Given the description of an element on the screen output the (x, y) to click on. 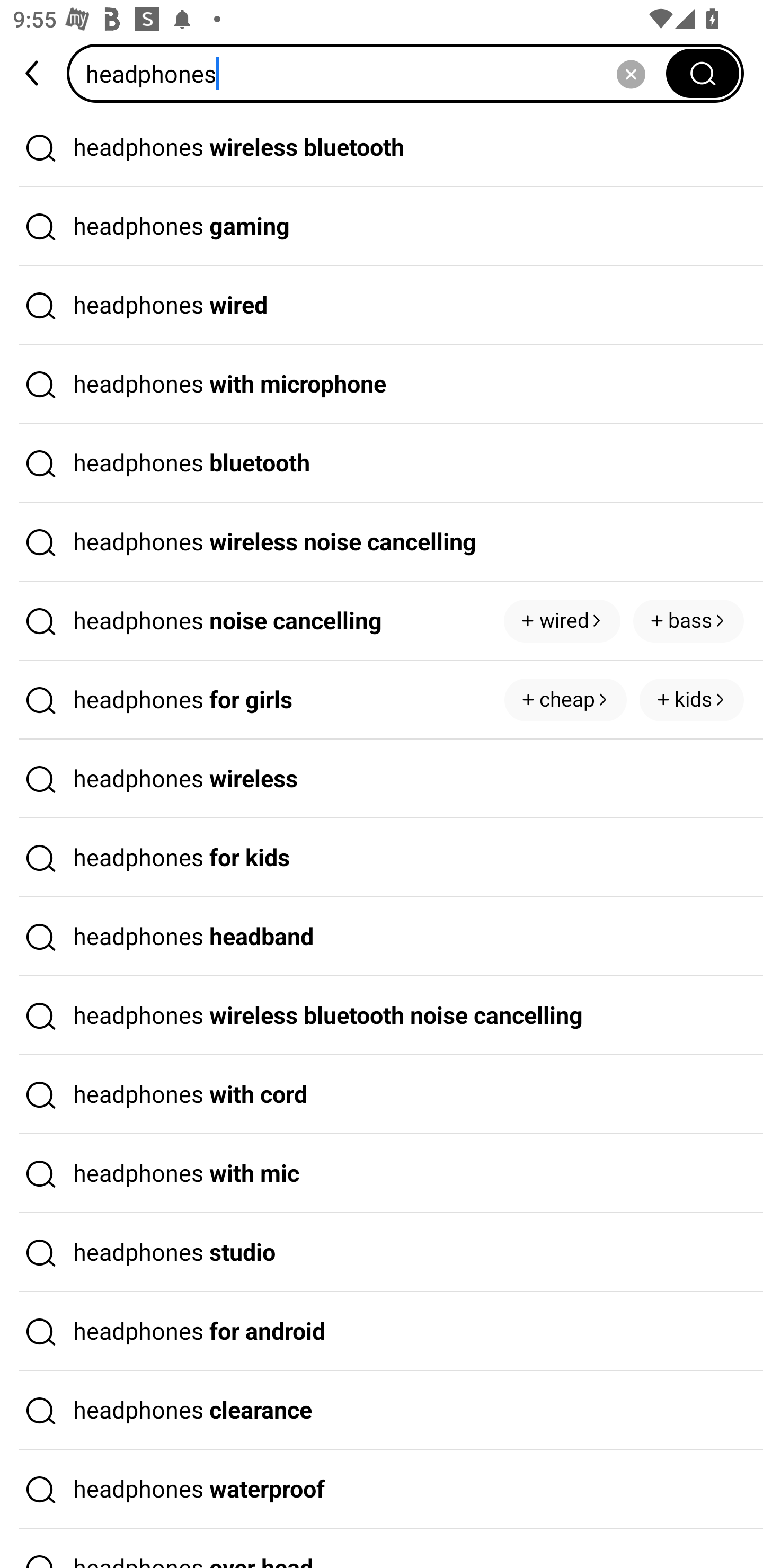
back (33, 72)
headphones (372, 73)
Delete search history (630, 73)
headphones wireless bluetooth (381, 147)
headphones gaming (381, 226)
headphones wired (381, 305)
headphones with microphone (381, 383)
headphones bluetooth (381, 463)
headphones wireless noise cancelling (381, 542)
headphones noise cancelling wired bass (381, 620)
wired (561, 620)
bass (688, 620)
headphones for girls cheap kids (381, 700)
cheap (565, 699)
kids (691, 699)
headphones wireless (381, 779)
headphones for kids (381, 857)
headphones headband (381, 936)
headphones wireless bluetooth noise cancelling (381, 1015)
headphones with cord (381, 1094)
headphones with mic (381, 1173)
headphones studio (381, 1252)
headphones for android (381, 1331)
headphones clearance (381, 1410)
headphones waterproof (381, 1489)
